Given the description of an element on the screen output the (x, y) to click on. 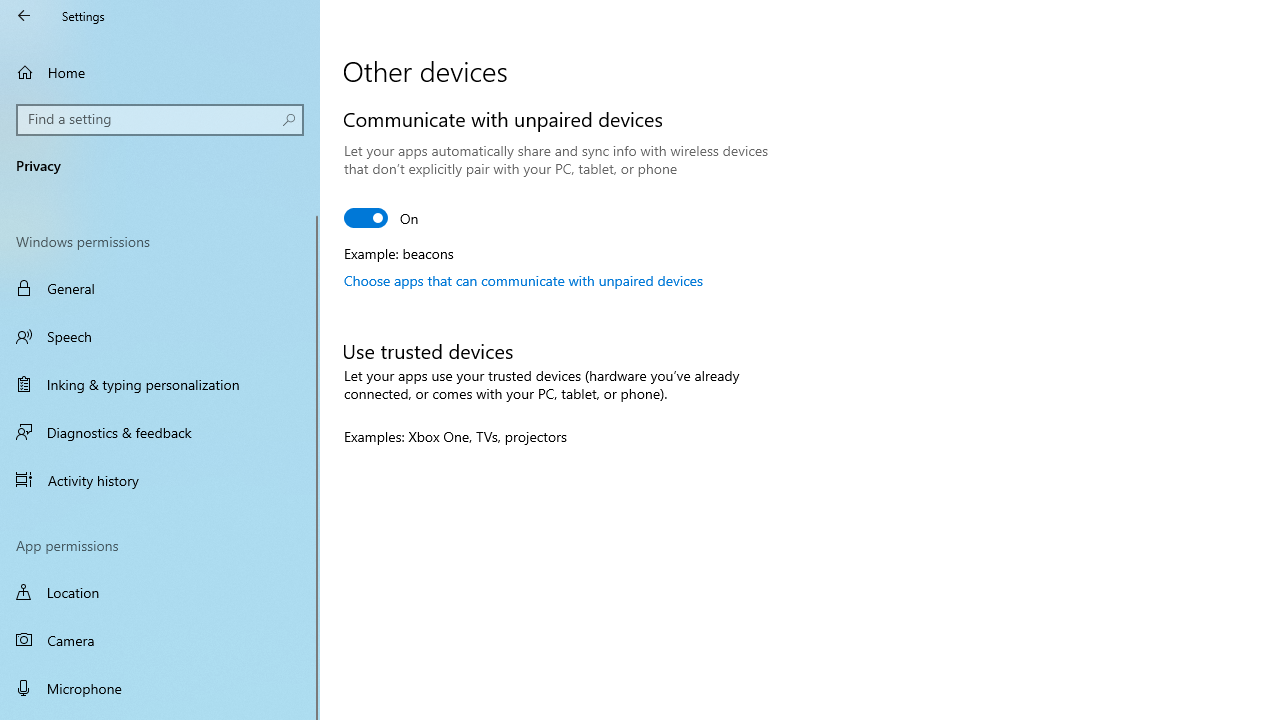
Inking & typing personalization (160, 384)
Home (160, 71)
Speech (160, 335)
Choose apps that can communicate with unpaired devices (523, 280)
Microphone (160, 687)
Diagnostics & feedback (160, 431)
Activity history (160, 479)
Communicate with unpaired devices (381, 218)
Location (160, 592)
General (160, 287)
Back (24, 15)
Search box, Find a setting (160, 119)
Camera (160, 639)
